Given the description of an element on the screen output the (x, y) to click on. 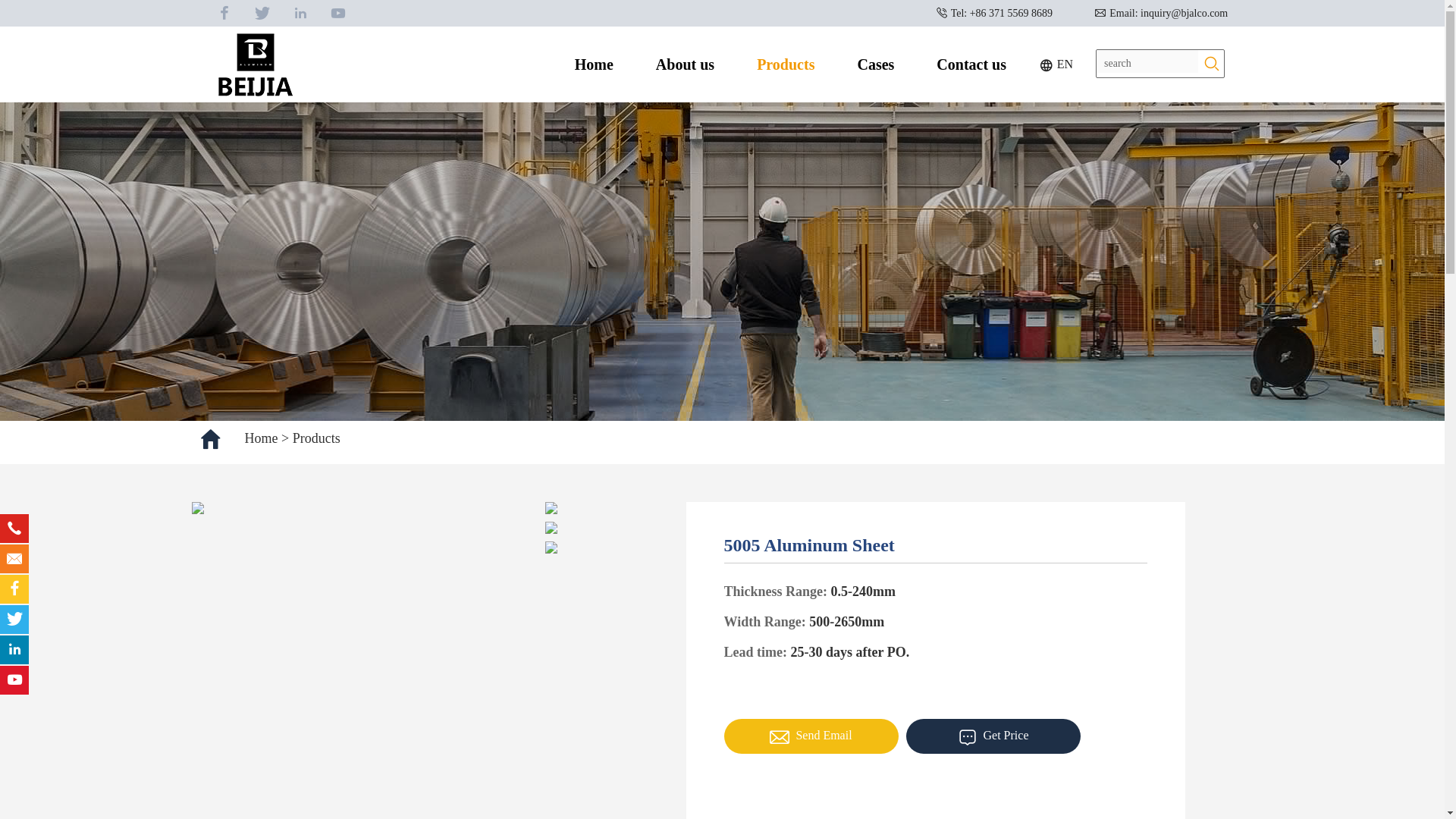
Products (316, 437)
Get Price (992, 735)
Home (261, 437)
EN (1056, 63)
EN (1056, 63)
Contact us (971, 64)
Send Email (810, 735)
